Given the description of an element on the screen output the (x, y) to click on. 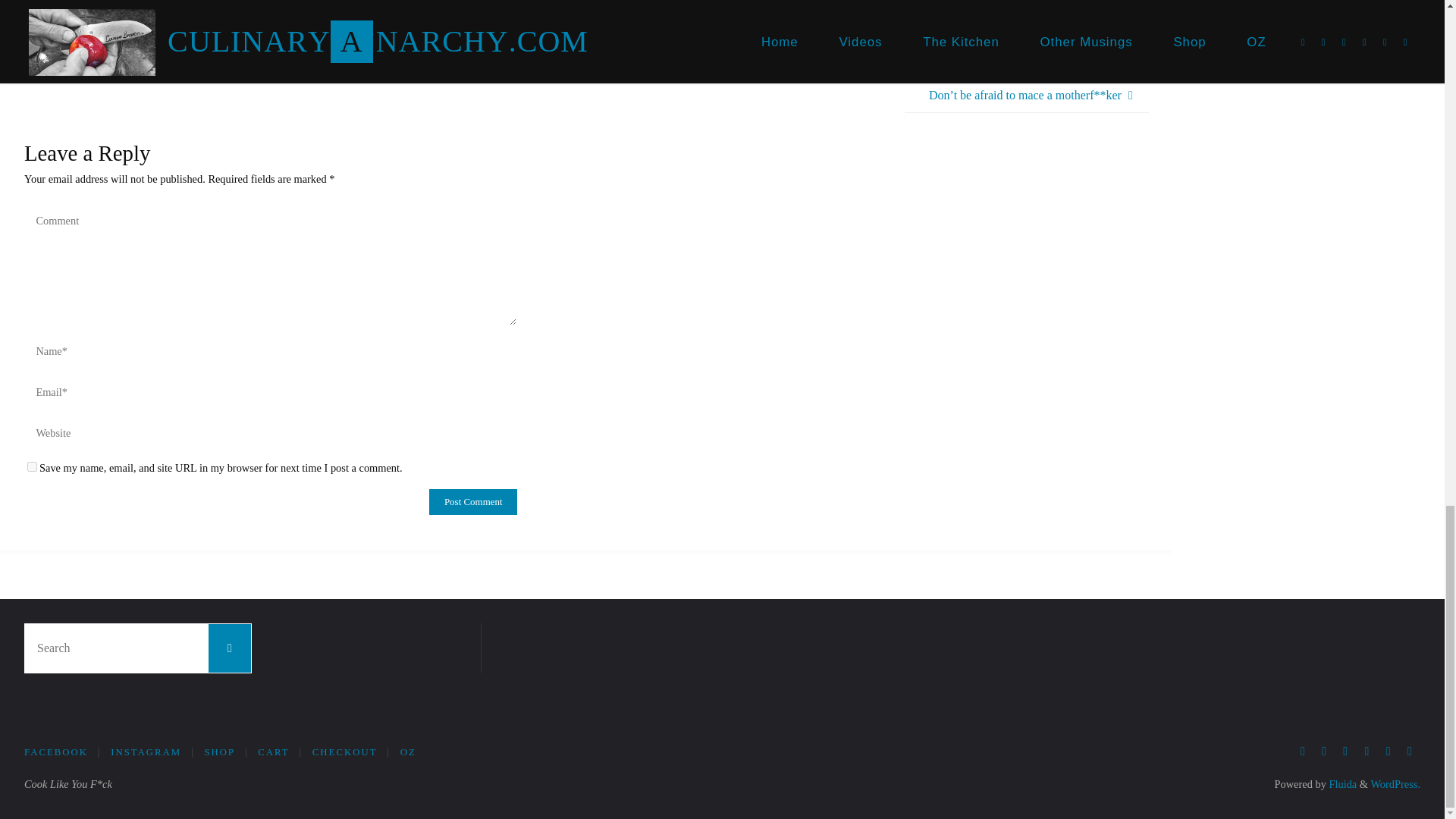
yes (32, 466)
Post Comment (472, 501)
